Given the description of an element on the screen output the (x, y) to click on. 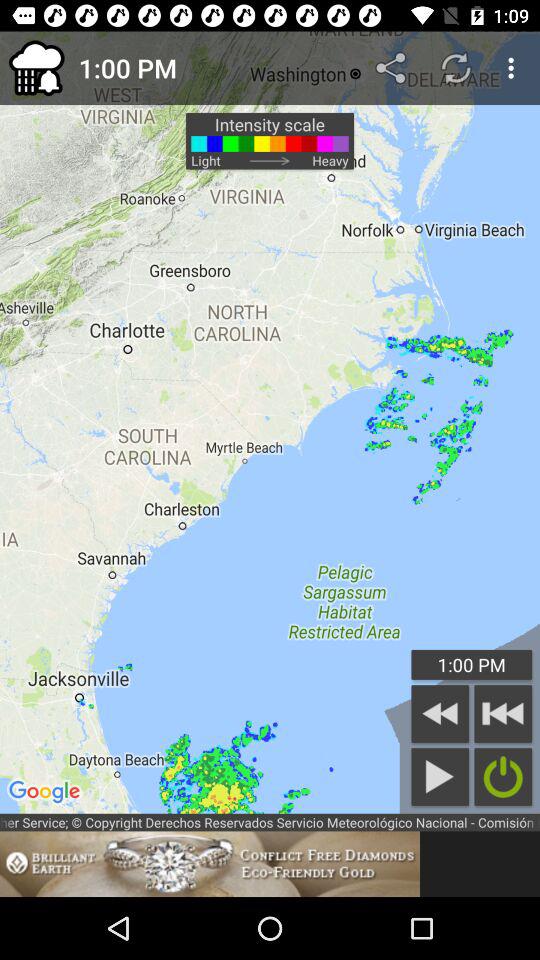
on record (503, 776)
